Given the description of an element on the screen output the (x, y) to click on. 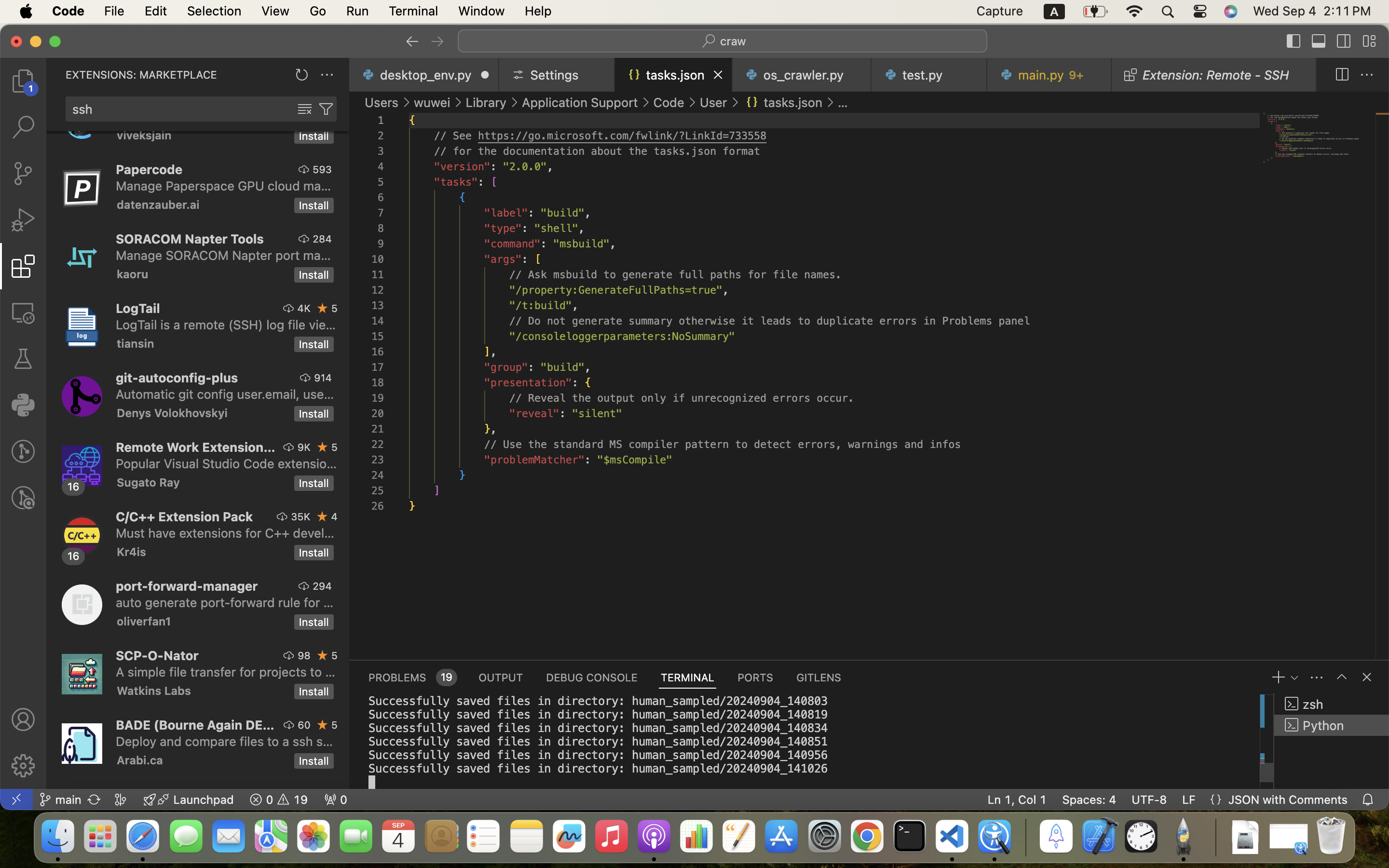
wuwei Element type: AXGroup (431, 101)
Watkins Labs Element type: AXStaticText (153, 690)
 Element type: AXButton (1341, 74)
 Element type: AXStaticText (304, 168)
1 tasks.json   Element type: AXRadioButton (674, 74)
